Given the description of an element on the screen output the (x, y) to click on. 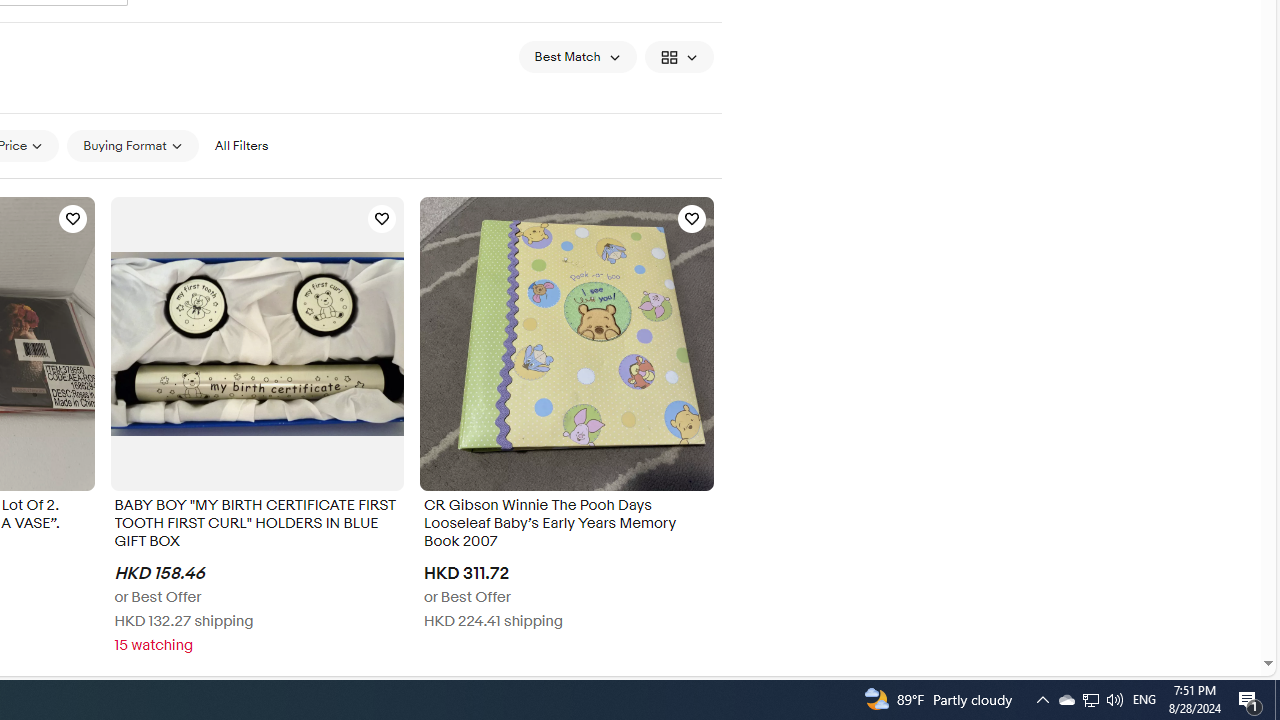
View: Gallery View (678, 56)
Buying Format (132, 145)
All Filters (241, 146)
Buying Format (132, 146)
All Filters (241, 145)
Sort: Best Match (577, 56)
